Given the description of an element on the screen output the (x, y) to click on. 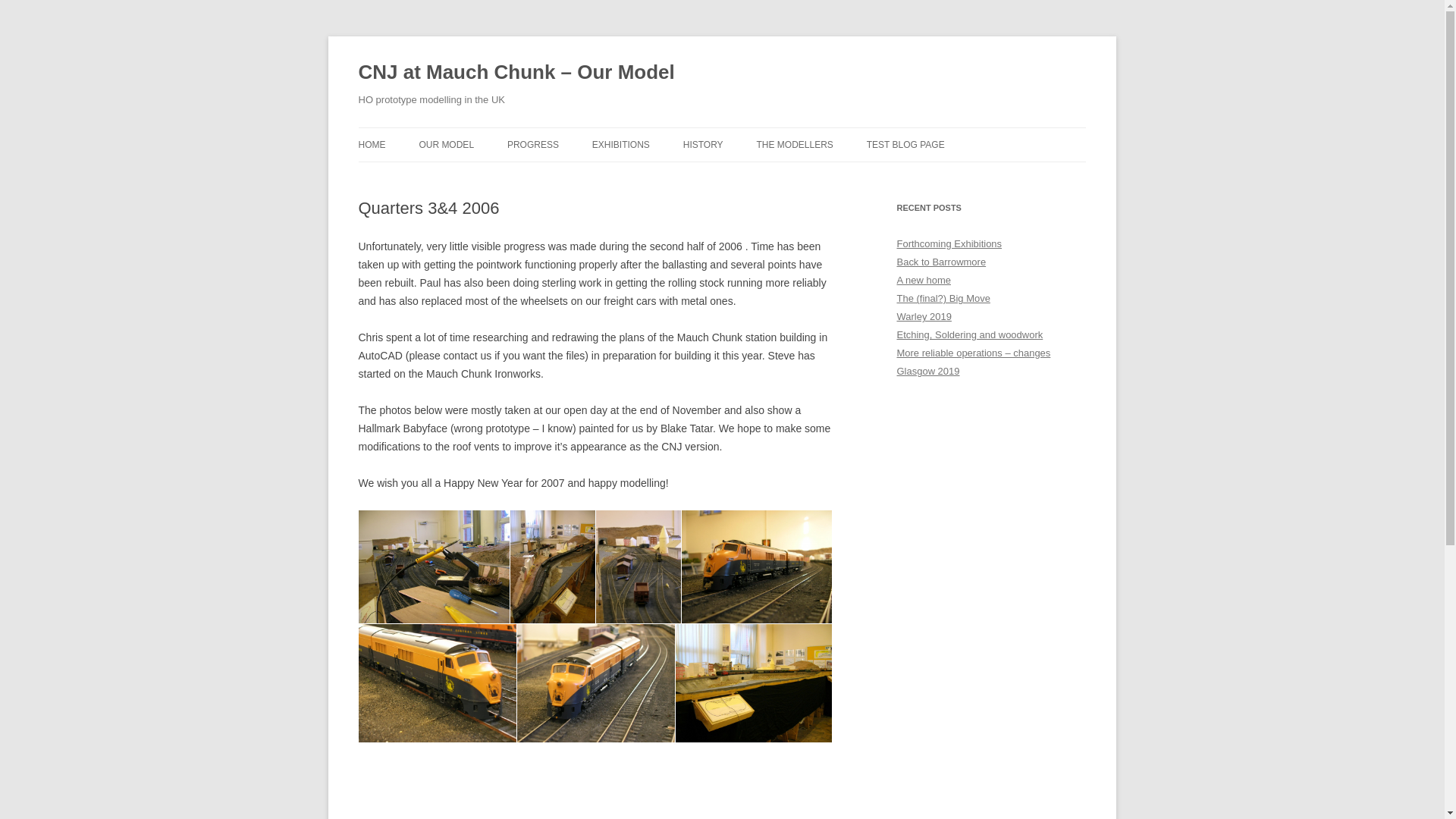
p-2006-12-011 (436, 780)
THE MODELLERS (794, 144)
p-2006-12-003 (433, 566)
WARLEY 2019 (668, 176)
p-2006-12-010 (753, 683)
EXHIBITIONS (620, 144)
OUR MODEL (446, 144)
p-2006-12 (756, 566)
PROGRESS (532, 144)
p-2006-12-001 (436, 683)
TEST BLOG PAGE (905, 144)
HISTORY (702, 144)
2019 (758, 176)
